Given the description of an element on the screen output the (x, y) to click on. 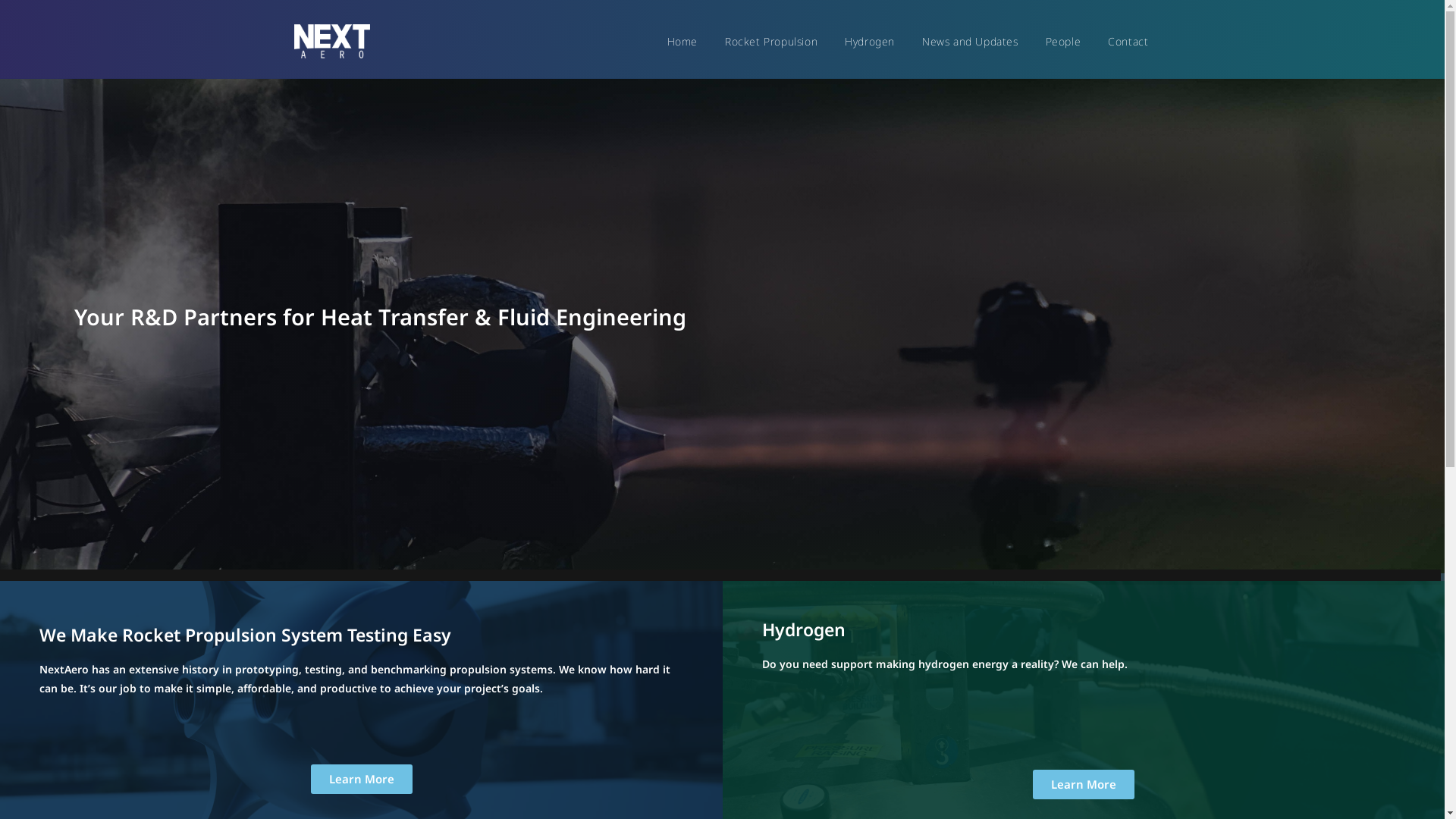
Rocket Propulsion Element type: text (771, 40)
Hydrogen Element type: text (869, 40)
News and Updates Element type: text (970, 40)
Contact Element type: text (1127, 40)
Home Element type: text (682, 40)
Learn More Element type: text (1083, 784)
Learn More Element type: text (361, 778)
People Element type: text (1063, 40)
